Given the description of an element on the screen output the (x, y) to click on. 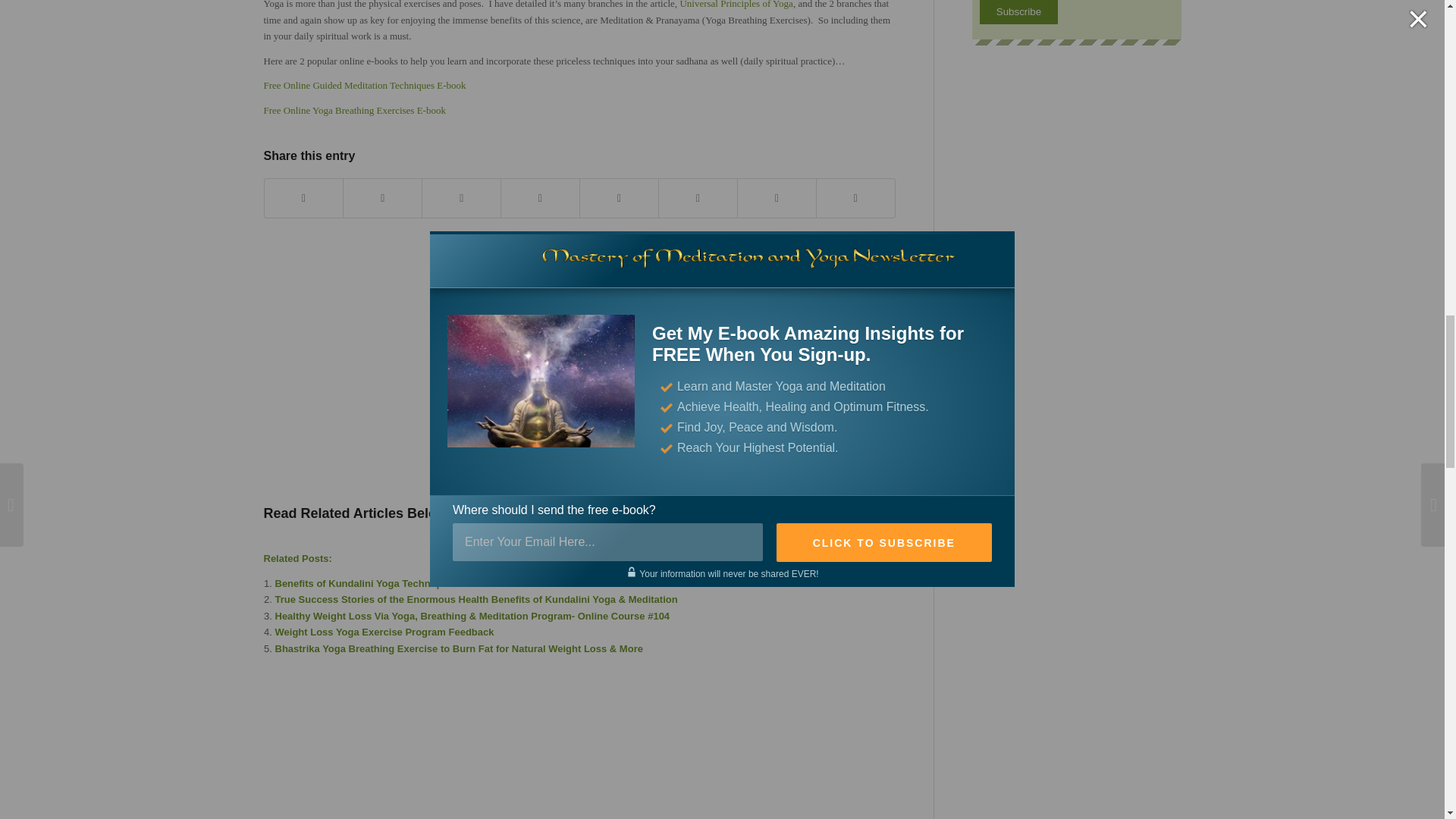
Subscribe (1018, 12)
